Given the description of an element on the screen output the (x, y) to click on. 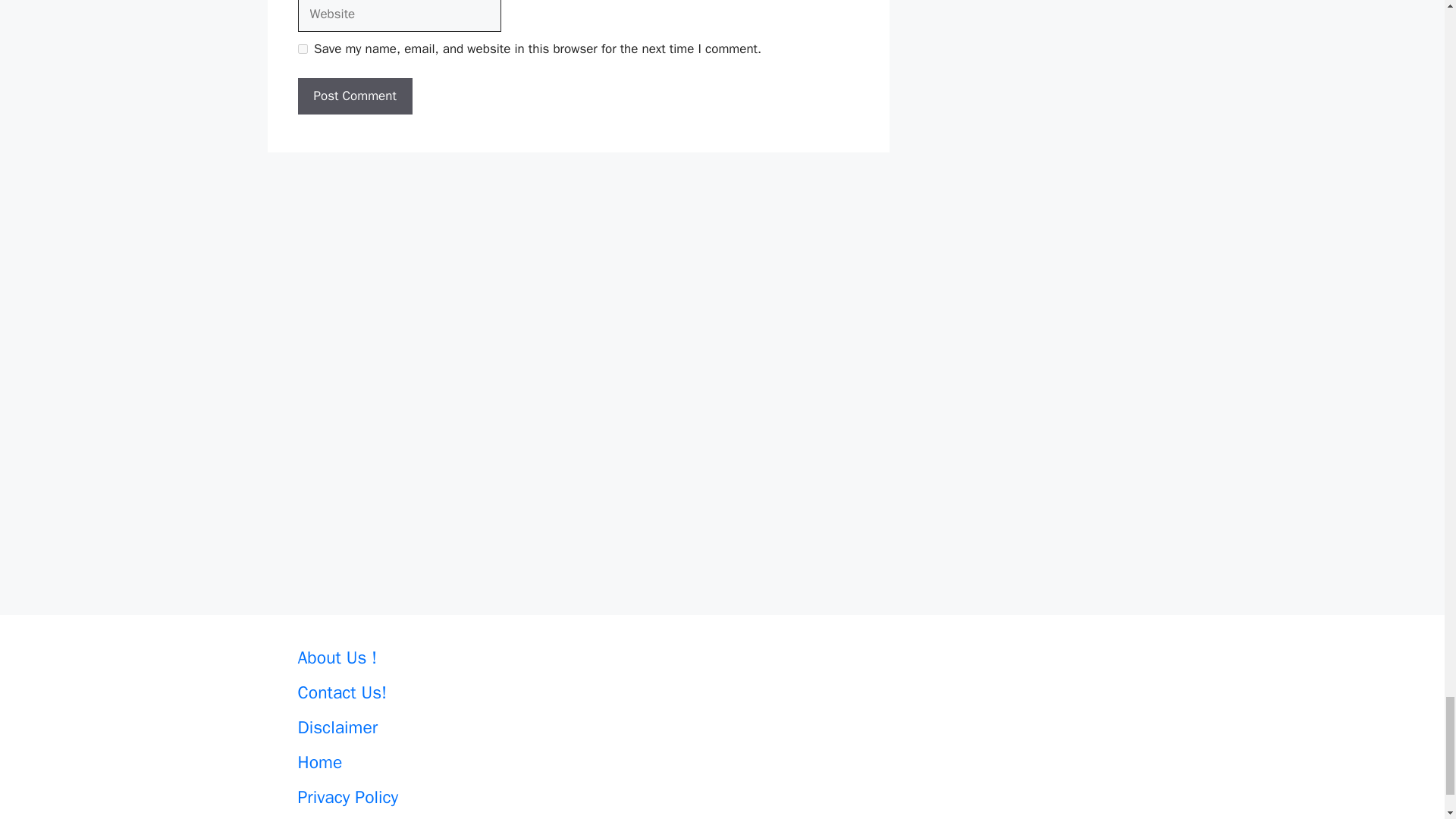
yes (302, 49)
Post Comment (354, 95)
